Given the description of an element on the screen output the (x, y) to click on. 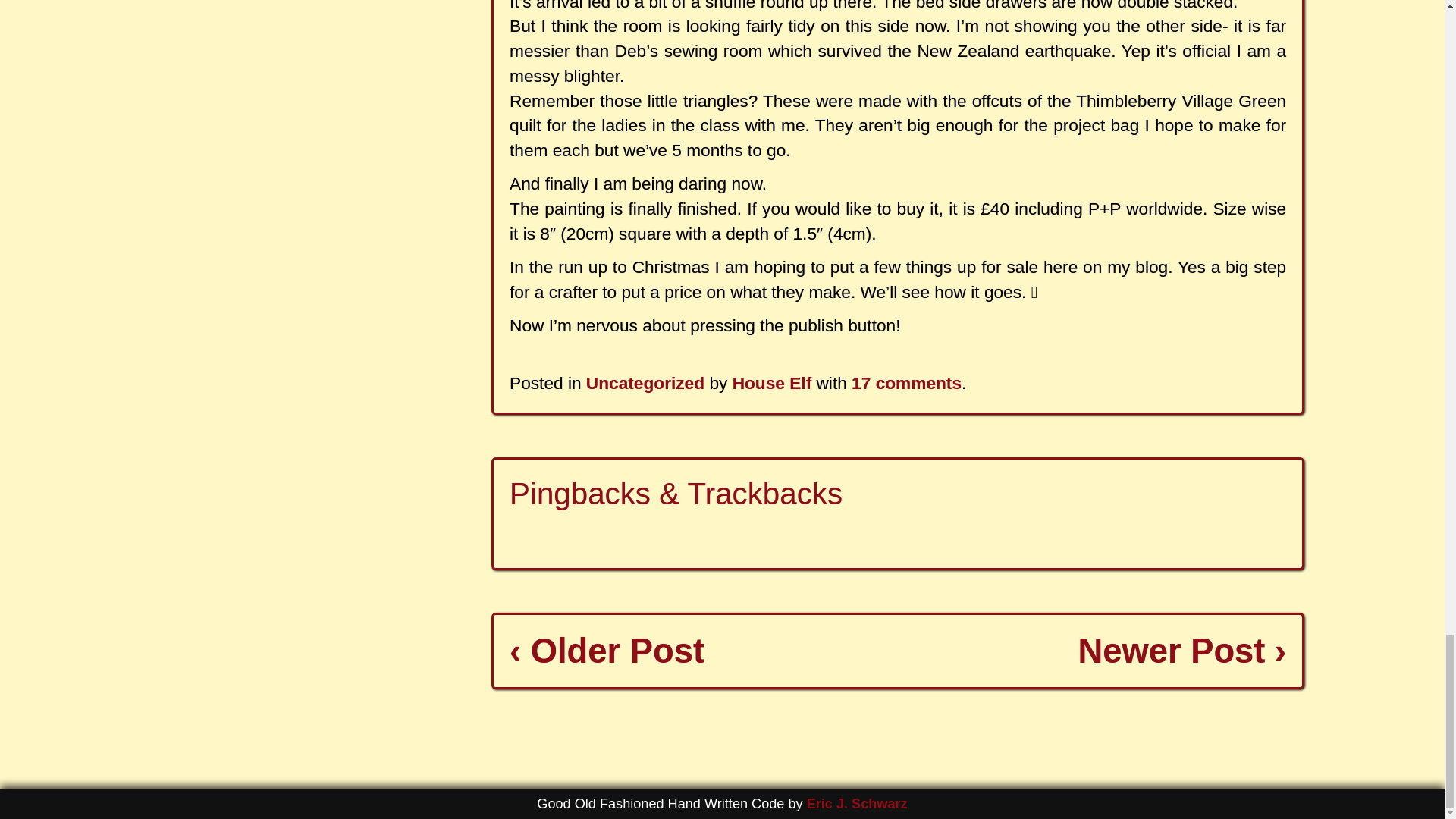
Posts by House Elf (772, 383)
Uncategorized (645, 383)
17 comments (905, 383)
House Elf (772, 383)
